Given the description of an element on the screen output the (x, y) to click on. 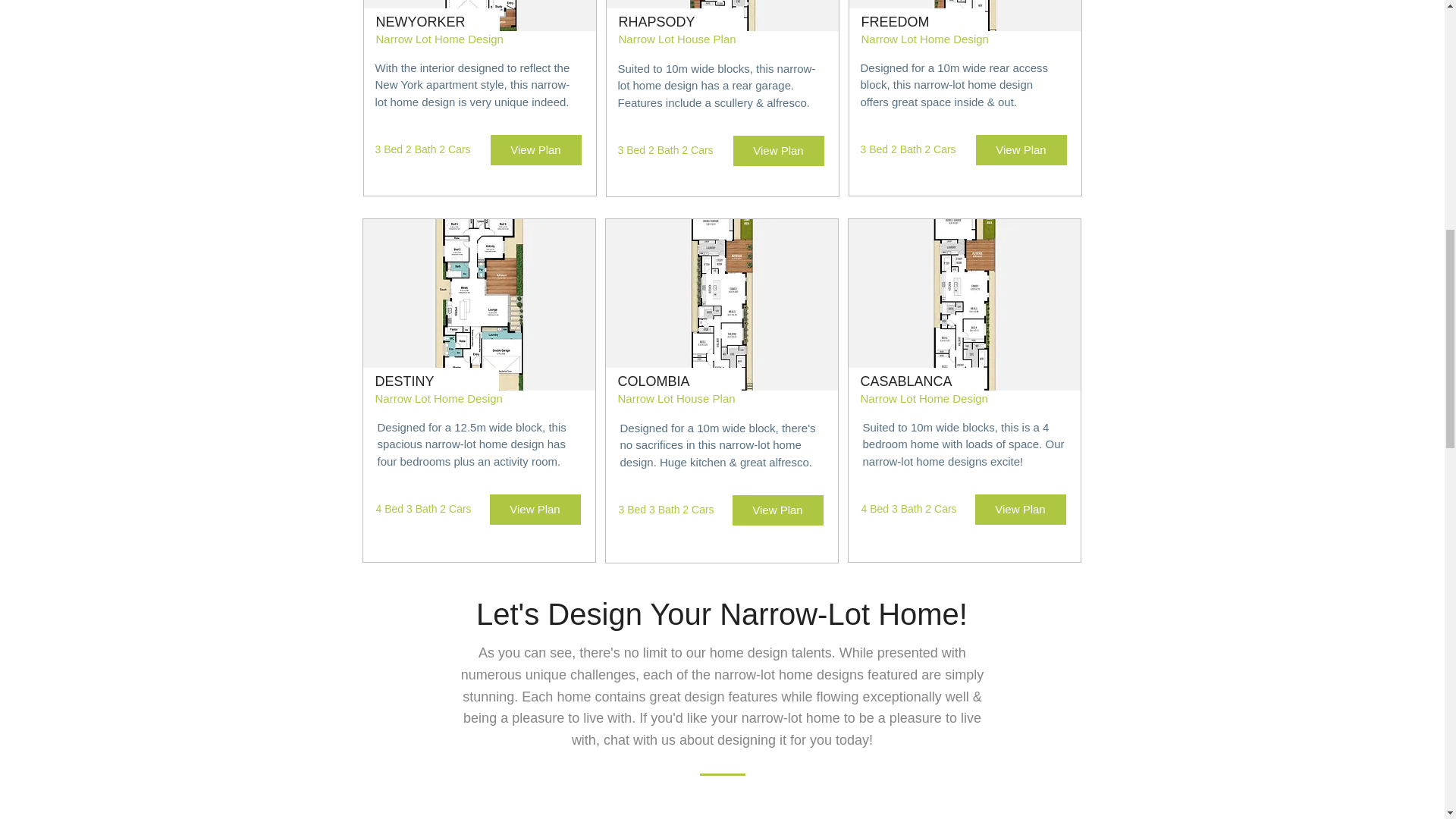
Narrow-Lot Home Design - The Casablanca (963, 304)
Narrow-Lot Home Design - The Freedom (964, 15)
View Plan (534, 150)
Narrow-Lot House Plan - The Colombia (721, 304)
View Plan (1020, 150)
Narrow-Lot House Plan - The Rhapsody (722, 15)
Narrow-Lot Home Design - The Newyorker (479, 15)
View Plan (778, 510)
View Plan (778, 150)
View Plan (1020, 509)
